Given the description of an element on the screen output the (x, y) to click on. 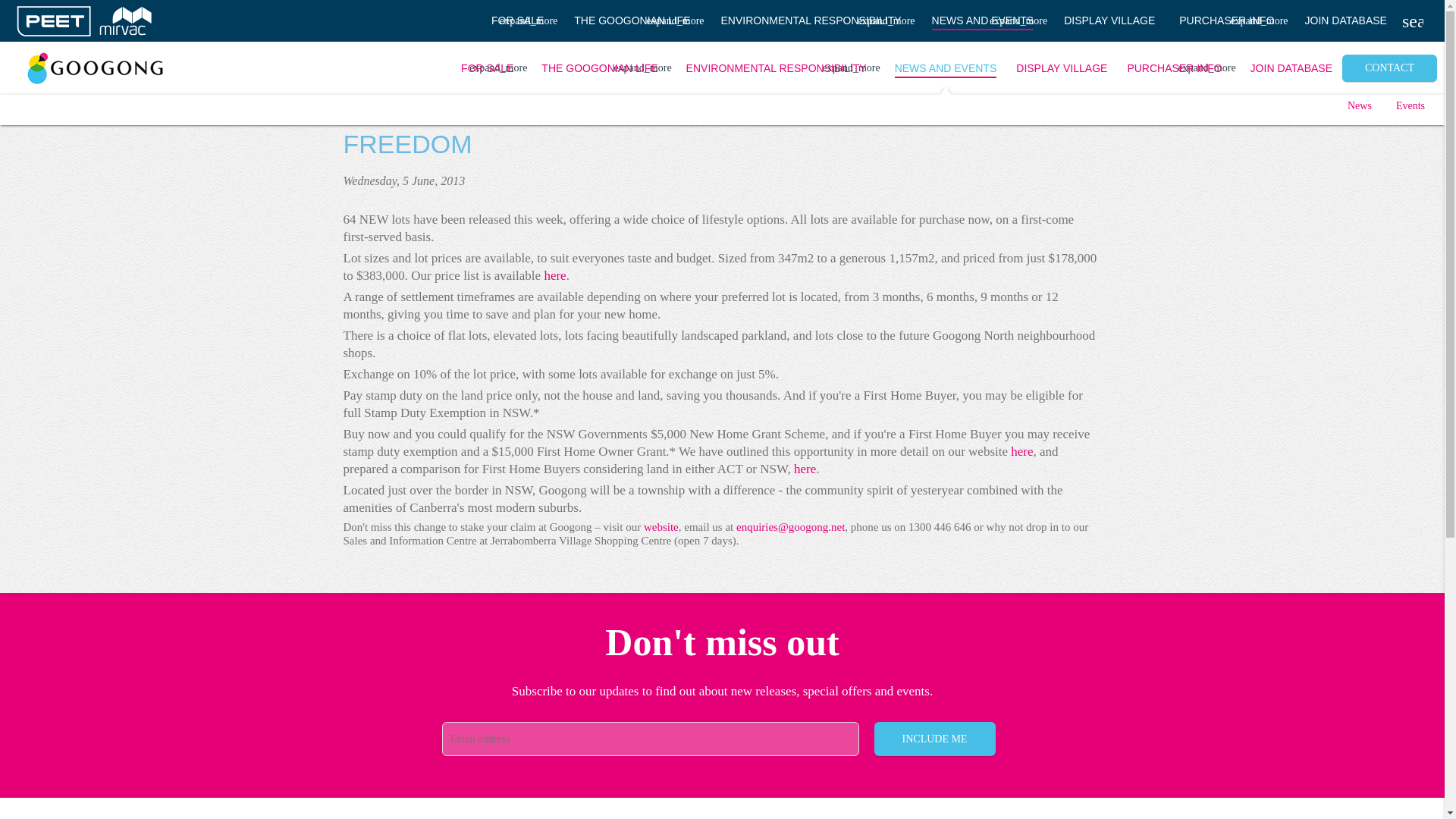
FOR SALE (520, 20)
PURCHASER INFO (1229, 20)
ENVIRONMENTAL RESPONSIBILITY (814, 20)
NEWS AND EVENTS (986, 20)
DISPLAY VILLAGE (1109, 20)
THE GOOGONIAN LIFE (634, 20)
